Given the description of an element on the screen output the (x, y) to click on. 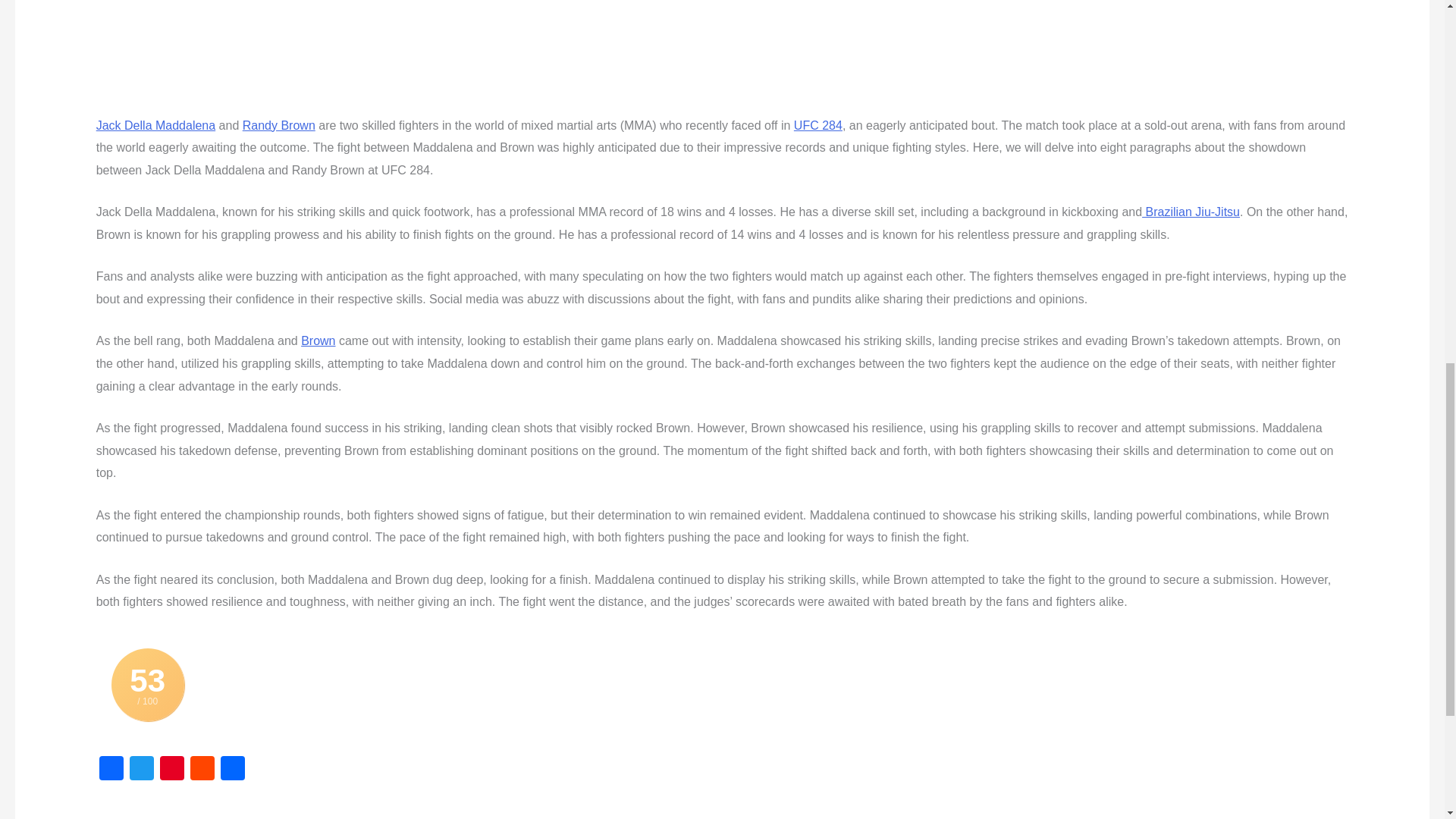
Pinterest (172, 769)
Share (231, 769)
Facebook (111, 769)
Randy Brown (279, 124)
Twitter (141, 769)
Pinterest (172, 769)
Jack Della Maddalena (155, 124)
Twitter (141, 769)
Facebook (111, 769)
Brazilian Jiu-Jitsu (1190, 211)
